Given the description of an element on the screen output the (x, y) to click on. 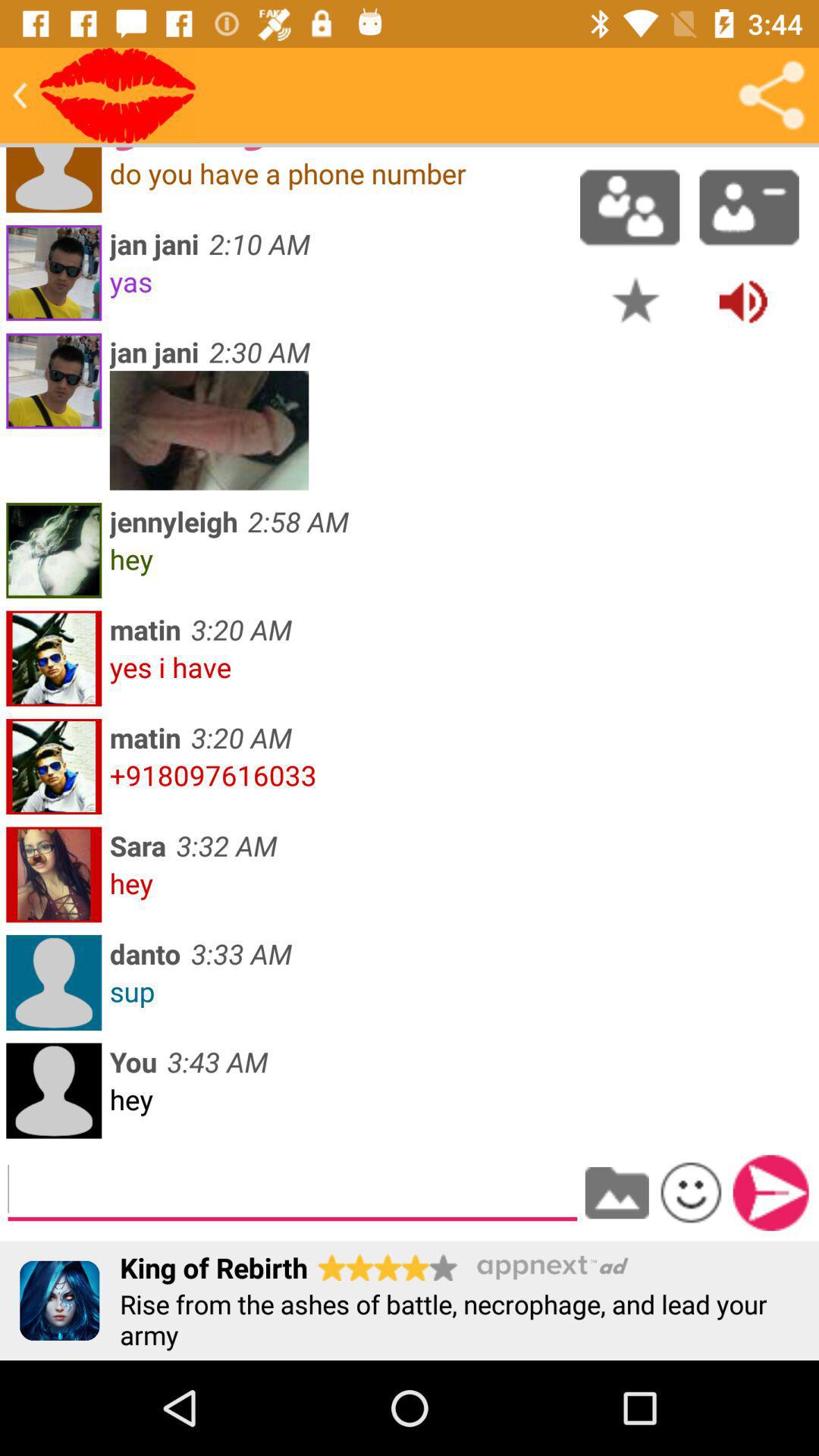
share the chat (771, 95)
